Given the description of an element on the screen output the (x, y) to click on. 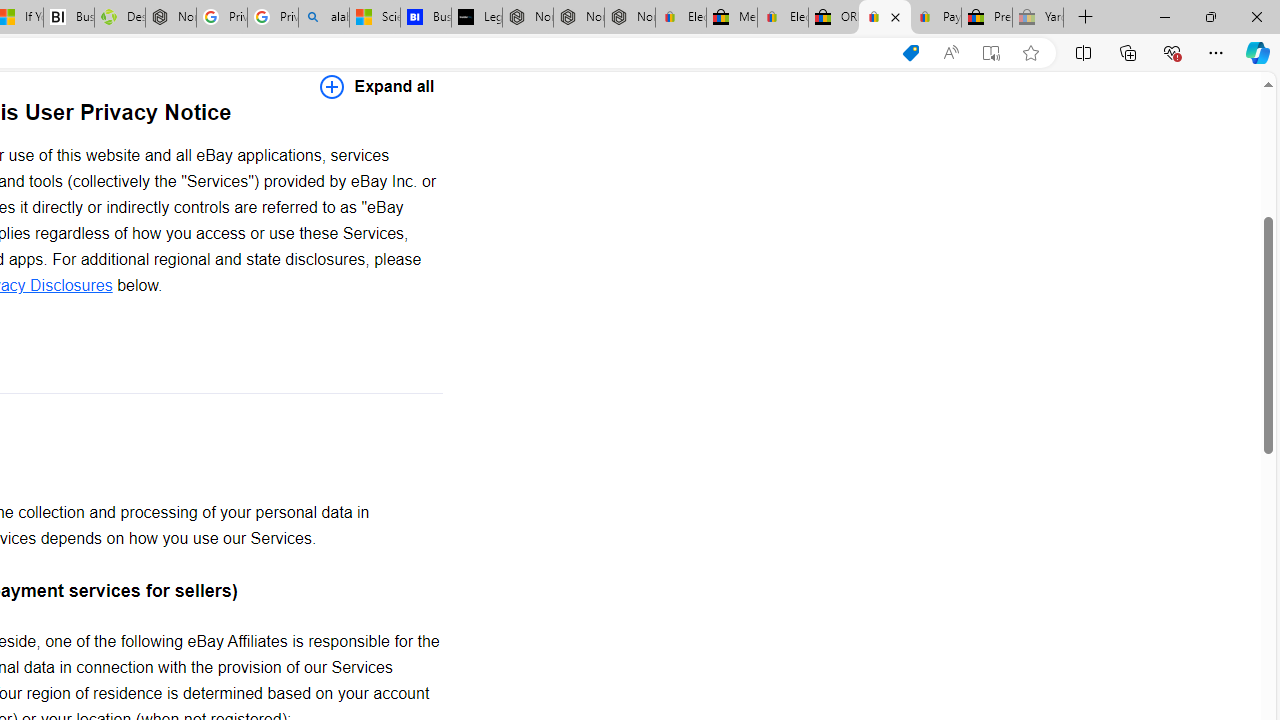
This site has coupons! Shopping in Microsoft Edge (910, 53)
